Given the description of an element on the screen output the (x, y) to click on. 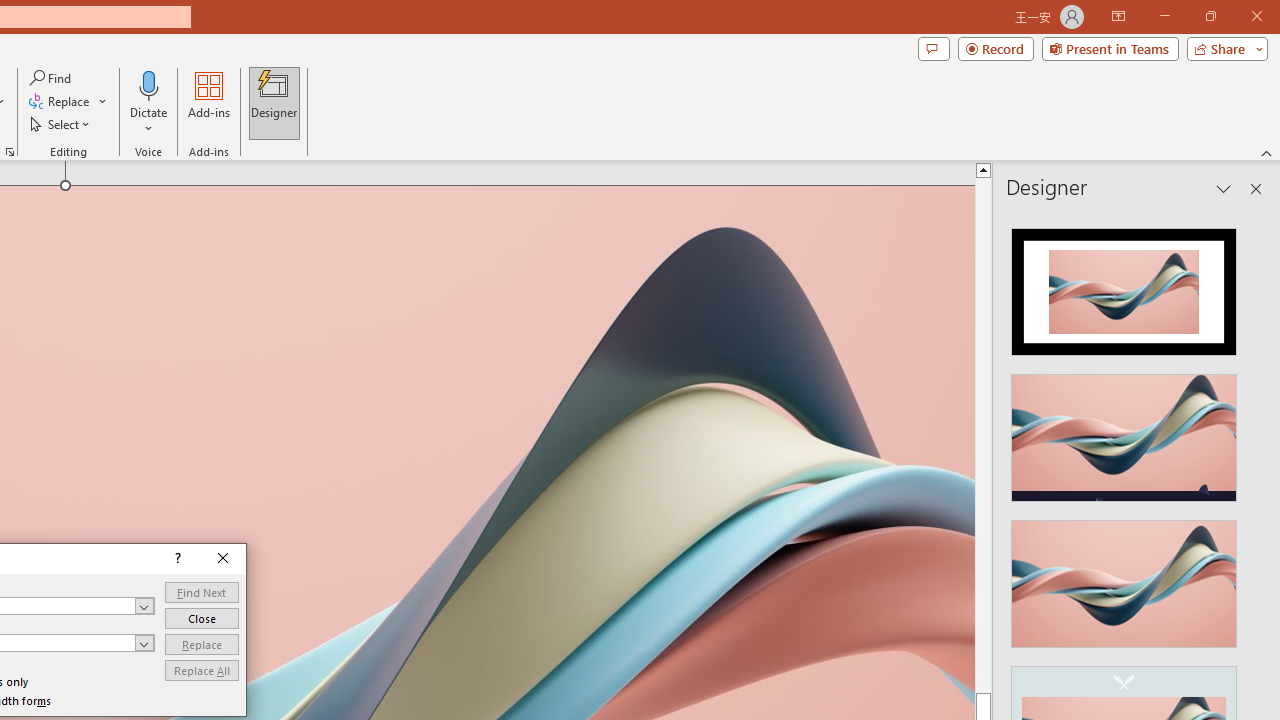
Replace (201, 643)
Replace All (201, 669)
